Given the description of an element on the screen output the (x, y) to click on. 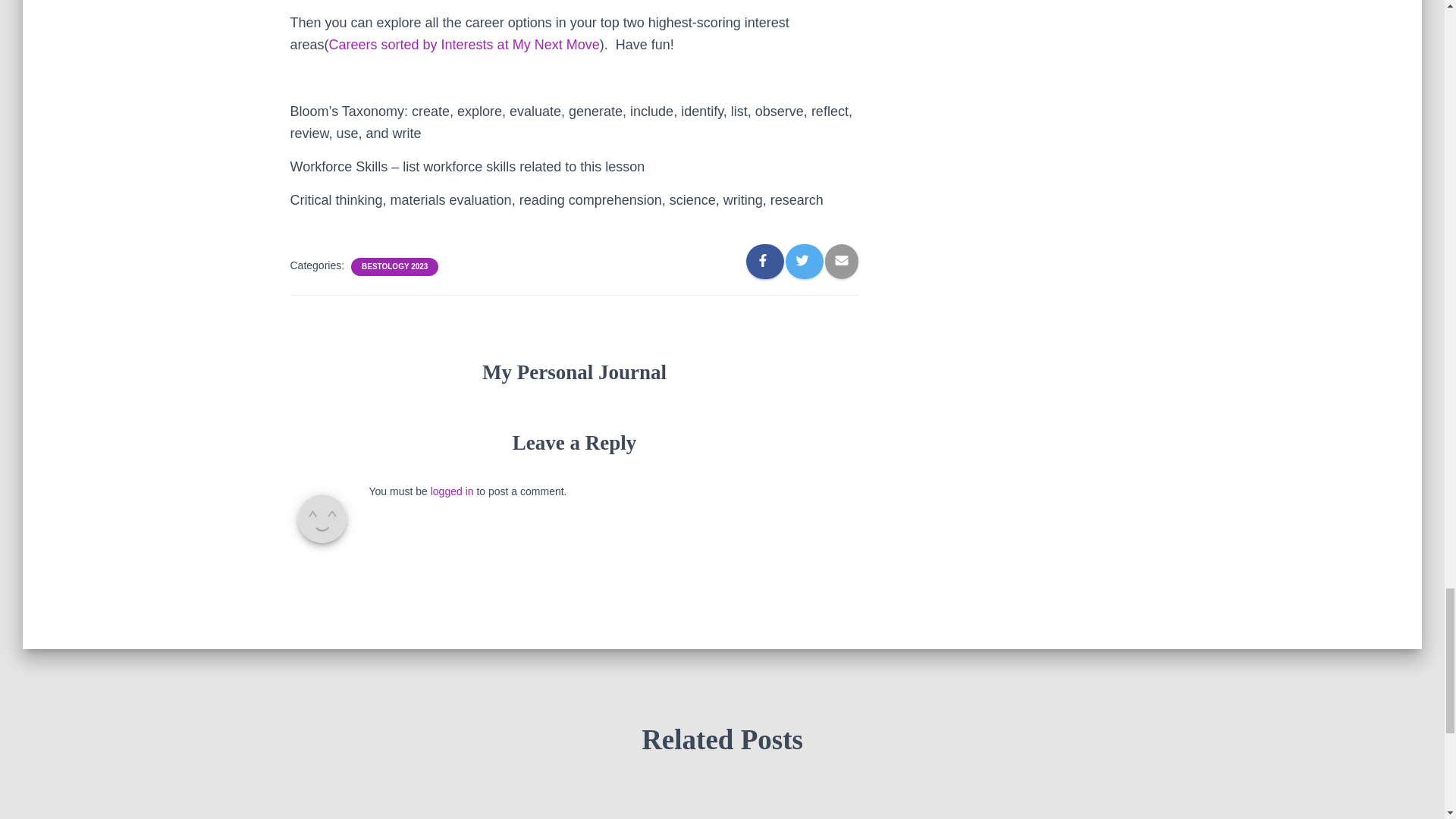
Careers sorted by Interests at My Next Move (464, 44)
BESTOLOGY 2023 (394, 266)
